Given the description of an element on the screen output the (x, y) to click on. 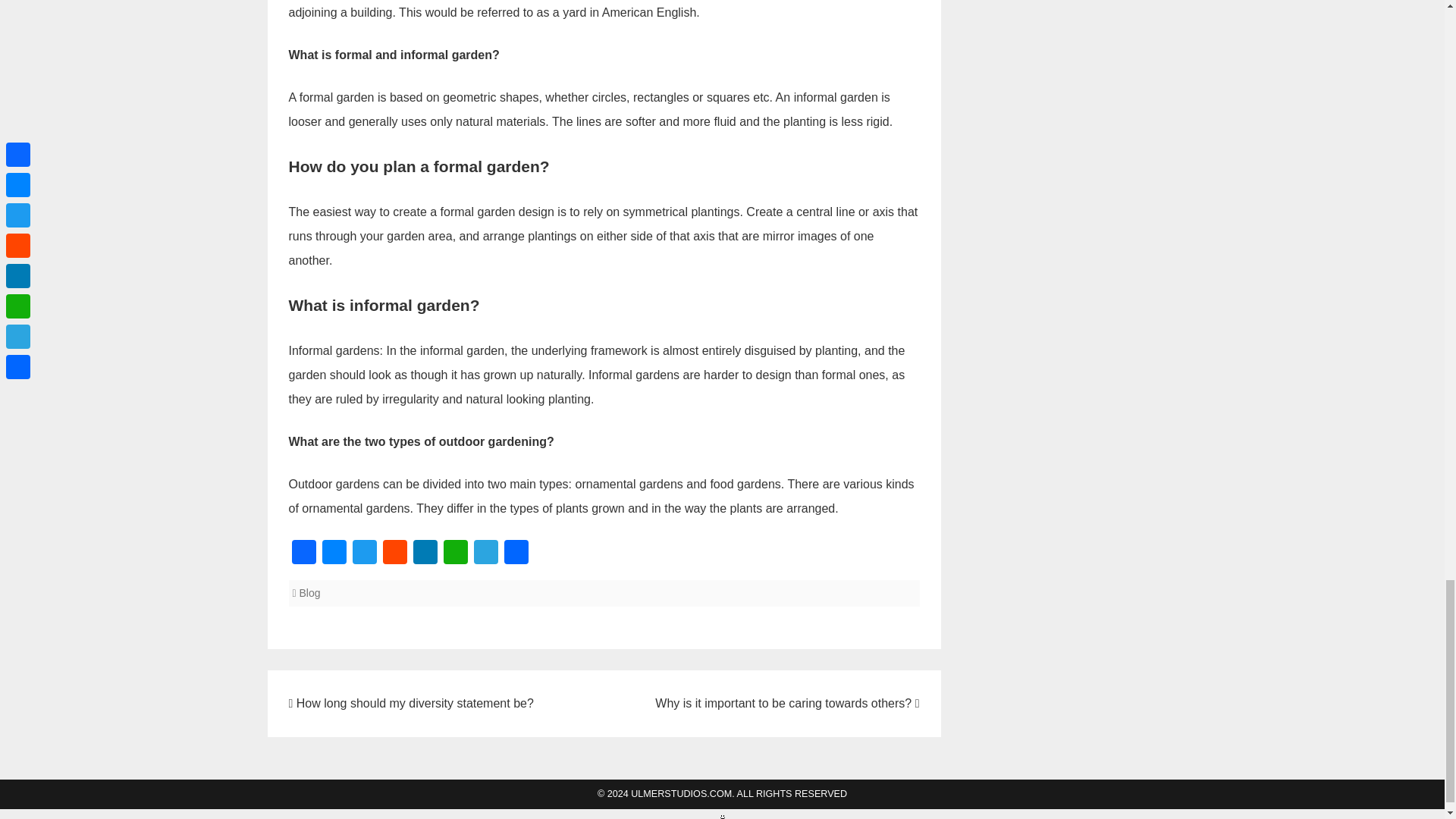
Reddit (393, 553)
Telegram (485, 553)
Why is it important to be caring towards others? (786, 703)
Blog (309, 592)
Twitter (363, 553)
How long should my diversity statement be? (410, 703)
LinkedIn (424, 553)
Messenger (333, 553)
Telegram (485, 553)
Messenger (333, 553)
WhatsApp (454, 553)
Share (515, 553)
WhatsApp (454, 553)
Reddit (393, 553)
LinkedIn (424, 553)
